Given the description of an element on the screen output the (x, y) to click on. 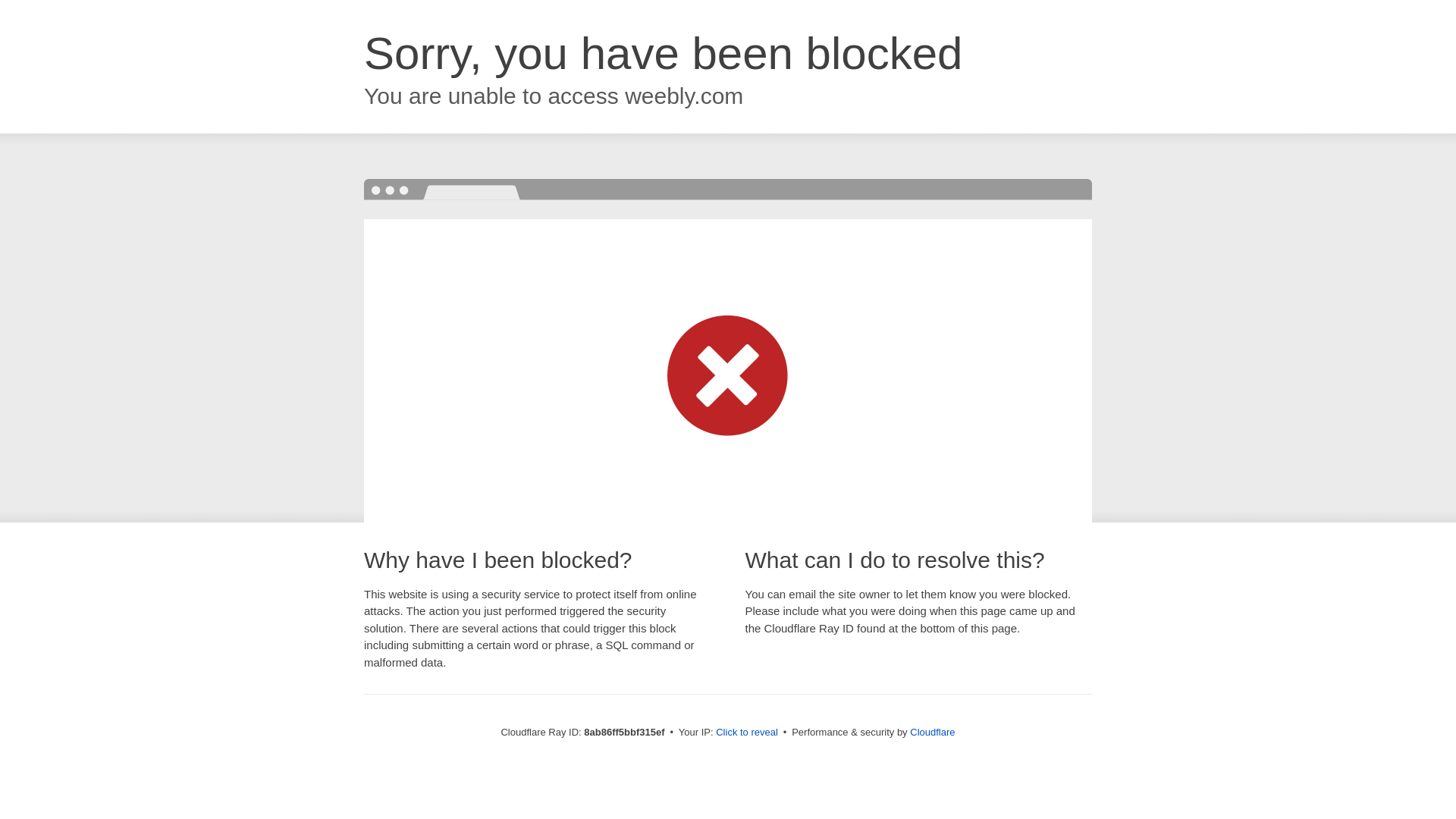
Click to reveal (746, 732)
Cloudflare (932, 731)
